Given the description of an element on the screen output the (x, y) to click on. 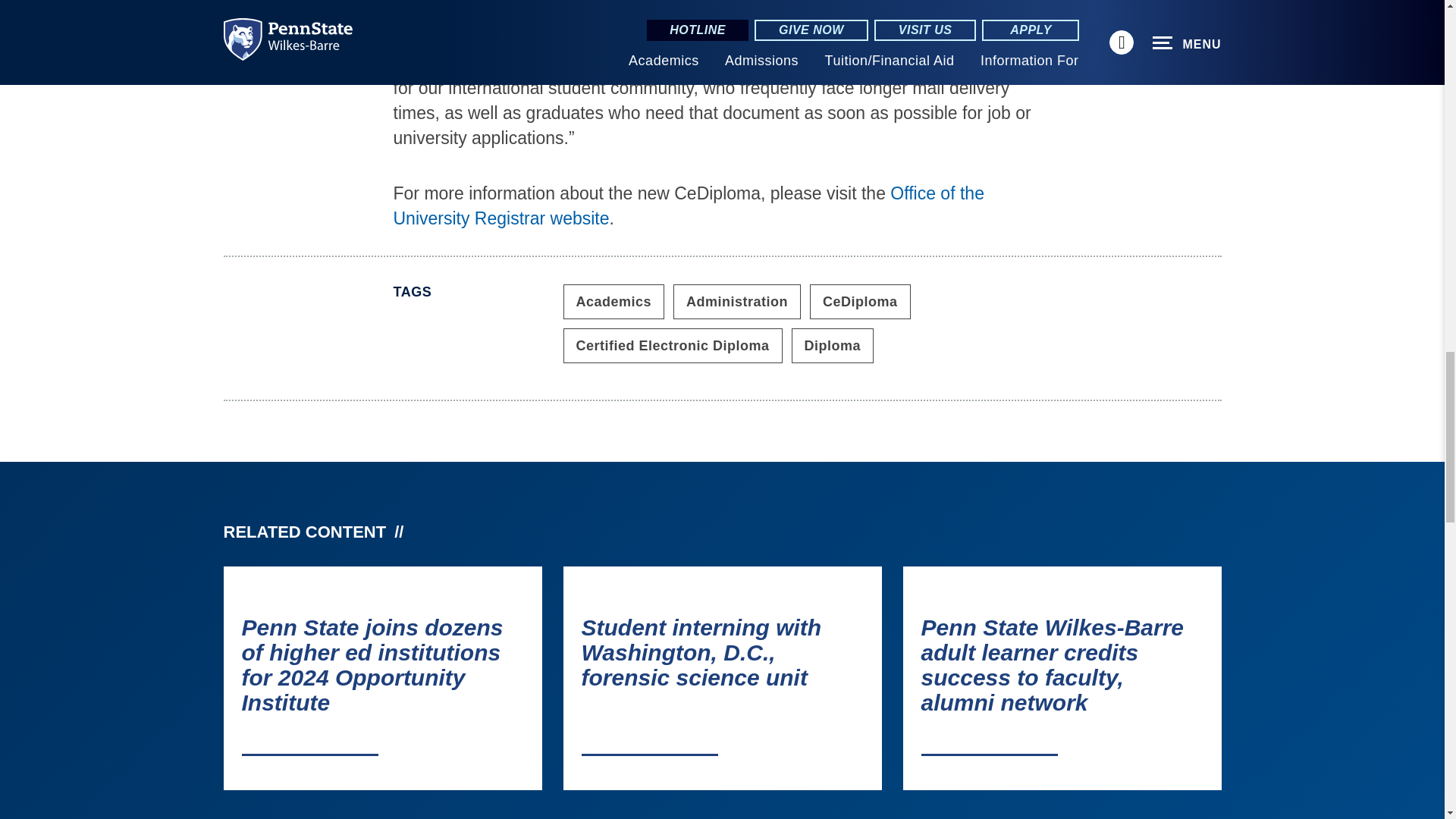
Content tagged with Diploma (833, 345)
Content tagged with Academics (612, 301)
Content tagged with Administration (736, 301)
Content tagged with CeDiploma (860, 301)
Content tagged with Certified Electronic Diploma (671, 345)
